Given the description of an element on the screen output the (x, y) to click on. 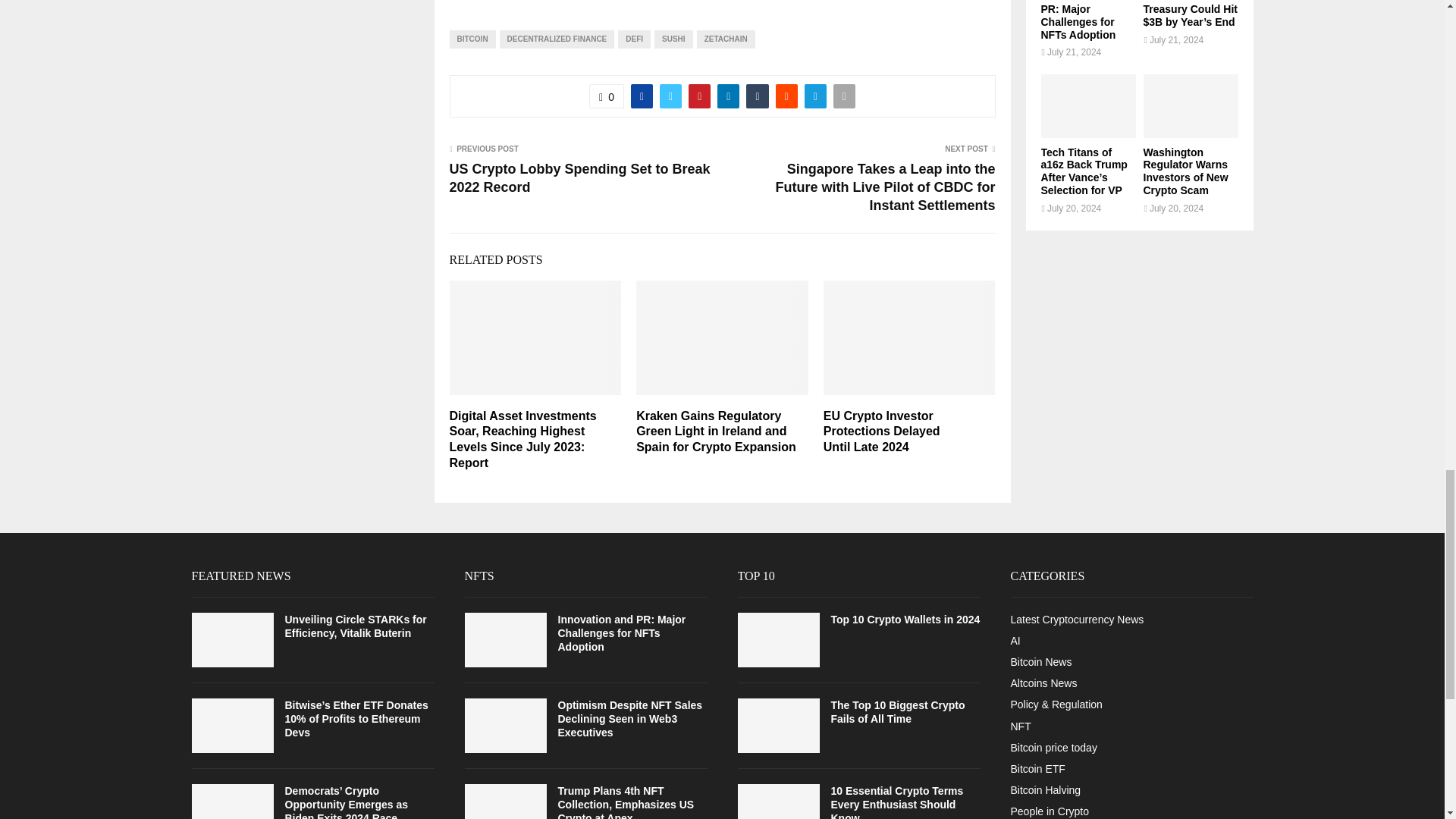
SUSHI (673, 39)
BITCOIN (471, 39)
0 (606, 96)
DECENTRALIZED FINANCE (556, 39)
Like (606, 96)
DEFI (633, 39)
ZETACHAIN (726, 39)
